Given the description of an element on the screen output the (x, y) to click on. 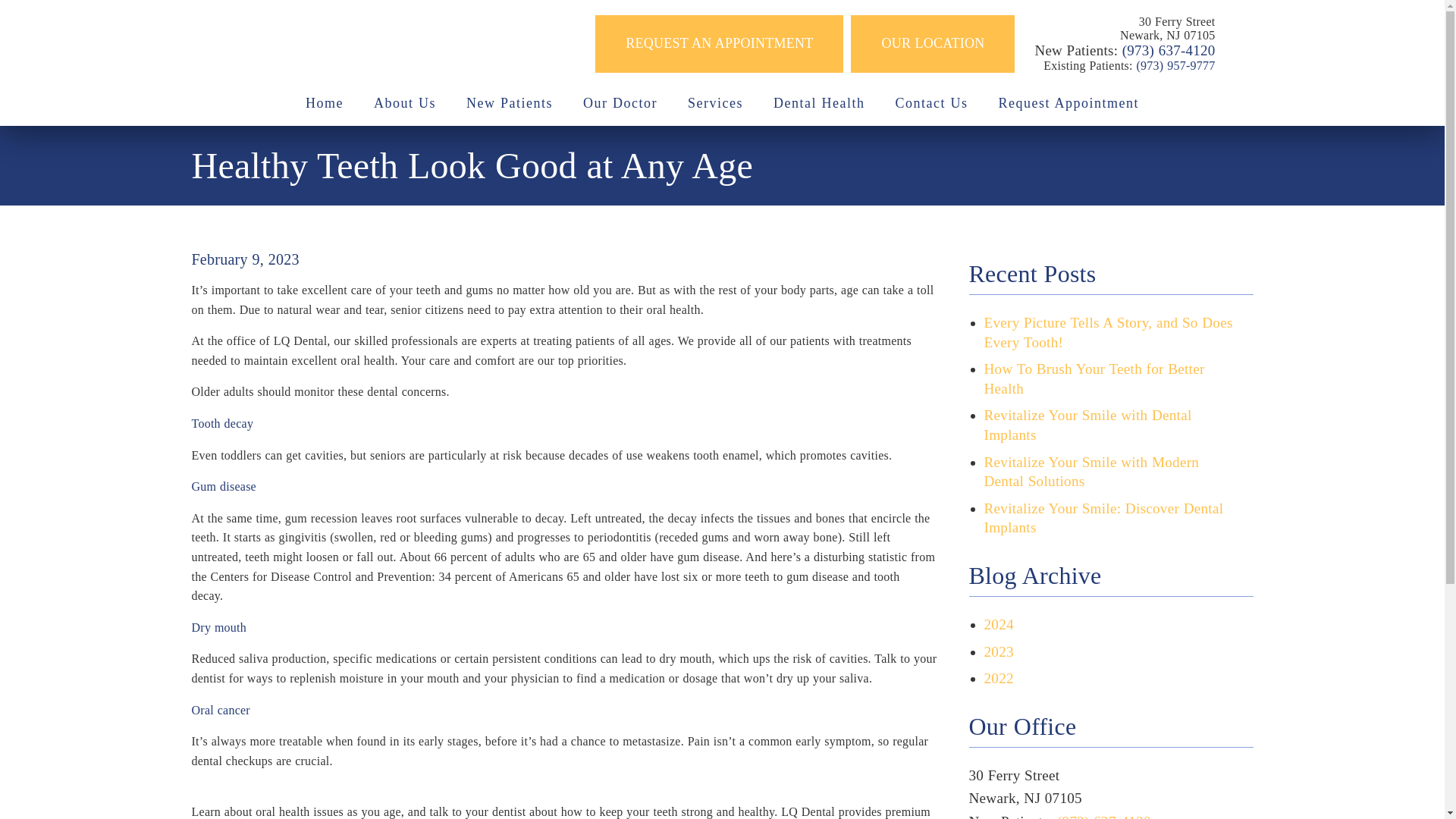
OUR LOCATION (932, 43)
2023 (998, 651)
Revitalize Your Smile with Modern Dental Solutions (1091, 471)
How To Brush Your Teeth for Better Health (1094, 378)
Revitalize Your Smile: Discover Dental Implants (1104, 518)
2022 (998, 678)
2024 (998, 624)
Revitalize Your Smile with Dental Implants (1088, 425)
Every Picture Tells A Story, and So Does Every Tooth! (1108, 332)
REQUEST AN APPOINTMENT (719, 43)
